Given the description of an element on the screen output the (x, y) to click on. 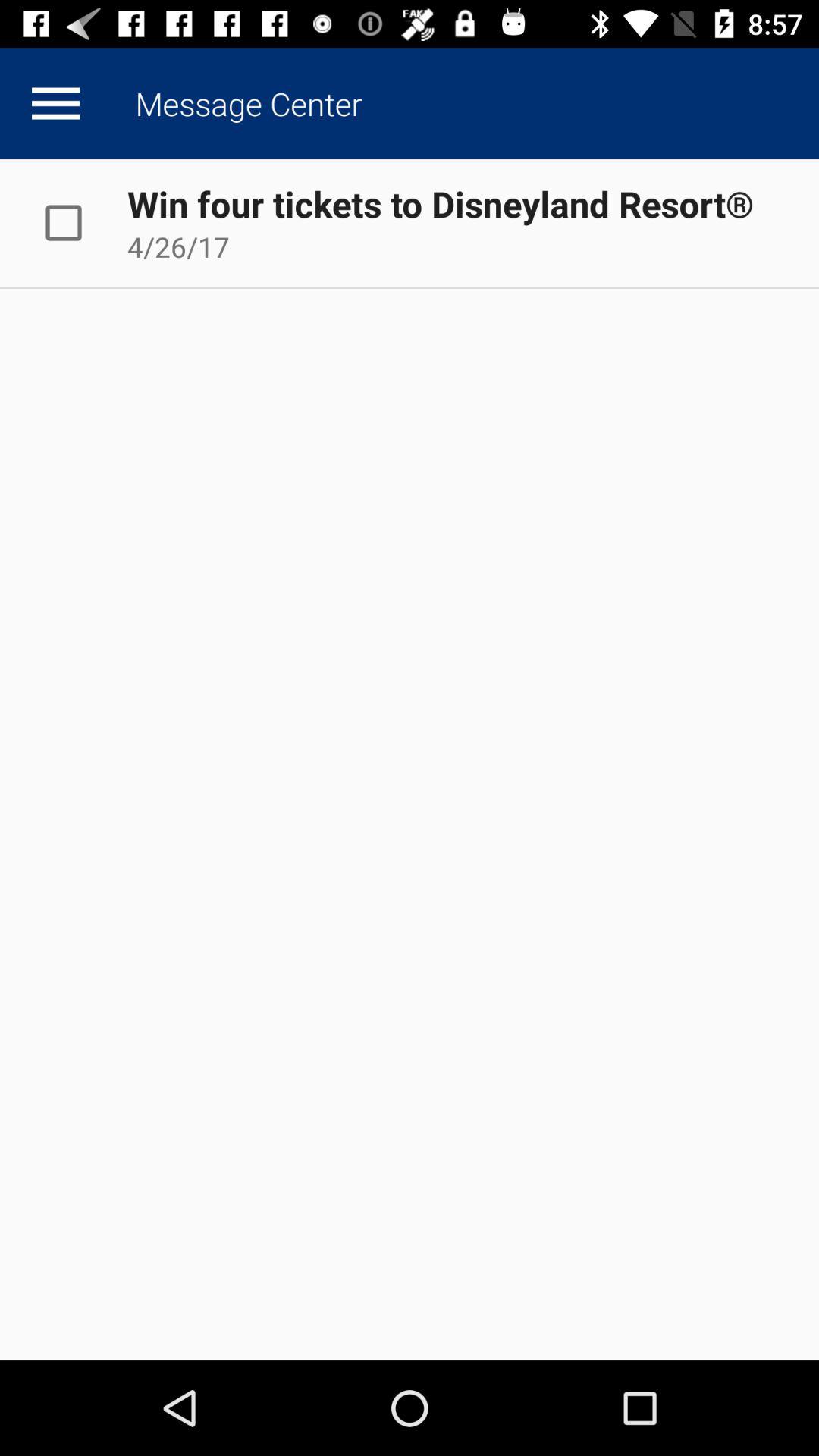
tap the 4/26/17 icon (178, 246)
